Given the description of an element on the screen output the (x, y) to click on. 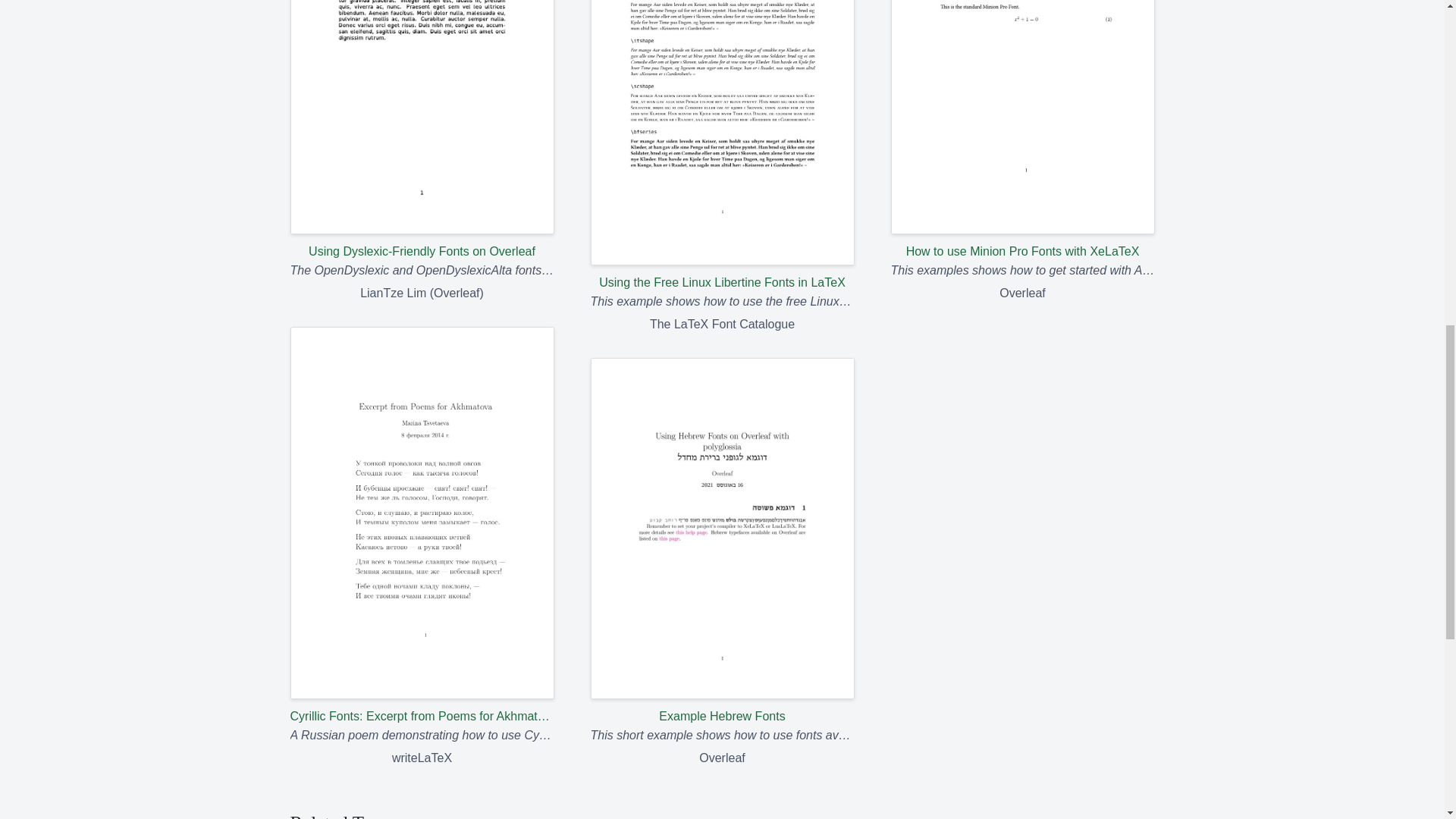
Using the Free Linux Libertine Fonts in LaTeX (721, 145)
How to use Minion Pro Fonts with XeLaTeX (1021, 130)
Using Dyslexic-Friendly Fonts on Overleaf (421, 130)
